Given the description of an element on the screen output the (x, y) to click on. 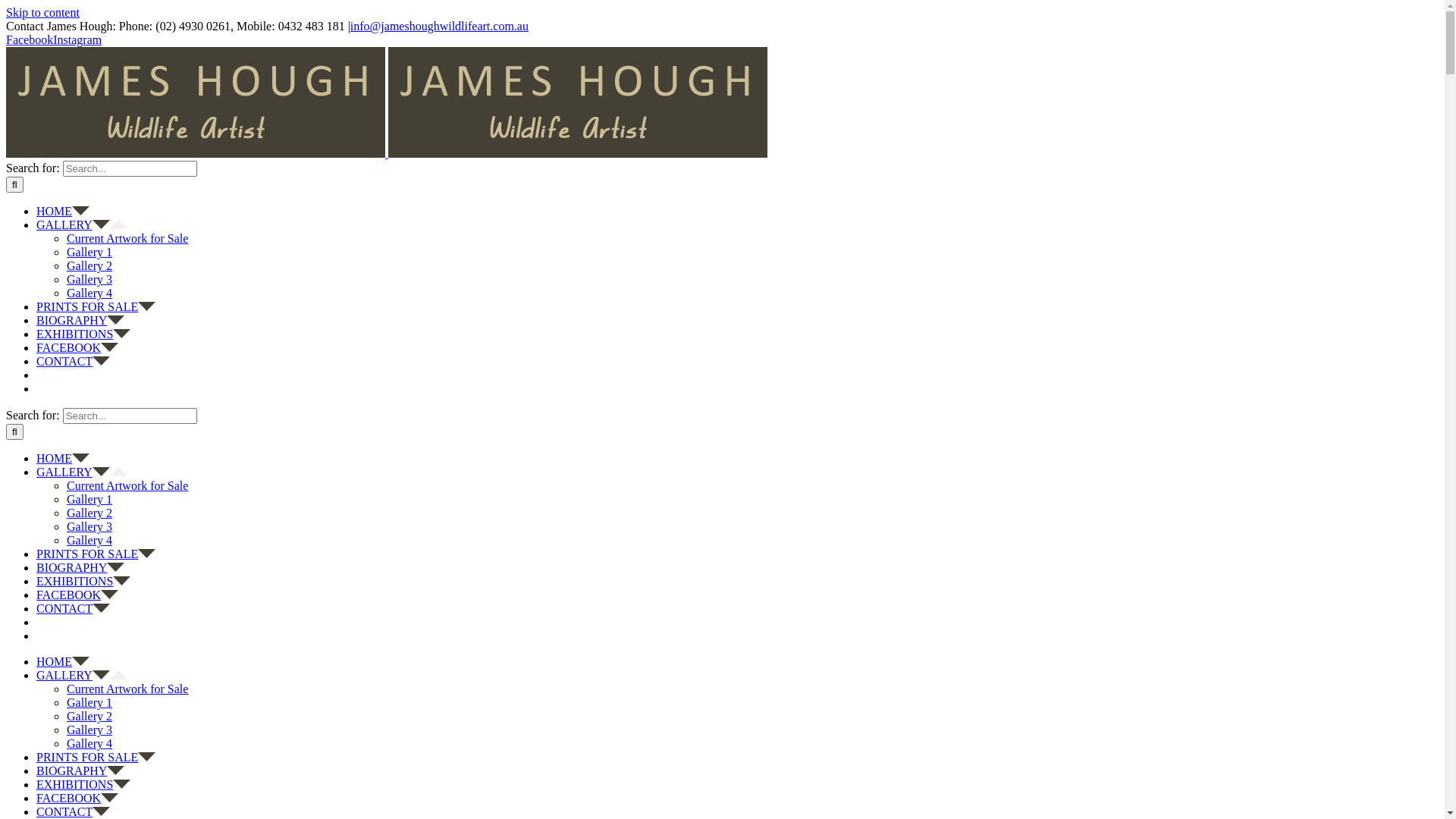
PRINTS FOR SALE Element type: text (95, 553)
GALLERY Element type: text (81, 674)
Current Artwork for Sale Element type: text (127, 485)
Gallery 4 Element type: text (89, 539)
Instagram Element type: text (77, 39)
Gallery 4 Element type: text (89, 743)
GALLERY Element type: text (81, 224)
Current Artwork for Sale Element type: text (127, 238)
CONTACT Element type: text (72, 360)
Gallery 3 Element type: text (89, 279)
HOME Element type: text (62, 457)
Gallery 1 Element type: text (89, 498)
Current Artwork for Sale Element type: text (127, 688)
Gallery 1 Element type: text (89, 702)
Gallery 3 Element type: text (89, 526)
HOME Element type: text (62, 210)
FACEBOOK Element type: text (77, 347)
info@jameshoughwildlifeart.com.au Element type: text (439, 25)
BIOGRAPHY Element type: text (80, 319)
Gallery 4 Element type: text (89, 292)
Gallery 2 Element type: text (89, 265)
EXHIBITIONS Element type: text (83, 580)
Gallery 2 Element type: text (89, 715)
Gallery 3 Element type: text (89, 729)
GALLERY Element type: text (81, 471)
HOME Element type: text (62, 661)
FACEBOOK Element type: text (77, 797)
Gallery 1 Element type: text (89, 251)
Gallery 2 Element type: text (89, 512)
Skip to content Element type: text (42, 12)
EXHIBITIONS Element type: text (83, 784)
CONTACT Element type: text (72, 811)
BIOGRAPHY Element type: text (80, 567)
EXHIBITIONS Element type: text (83, 333)
BIOGRAPHY Element type: text (80, 770)
CONTACT Element type: text (72, 608)
PRINTS FOR SALE Element type: text (95, 756)
Facebook Element type: text (29, 39)
PRINTS FOR SALE Element type: text (95, 306)
FACEBOOK Element type: text (77, 594)
